Given the description of an element on the screen output the (x, y) to click on. 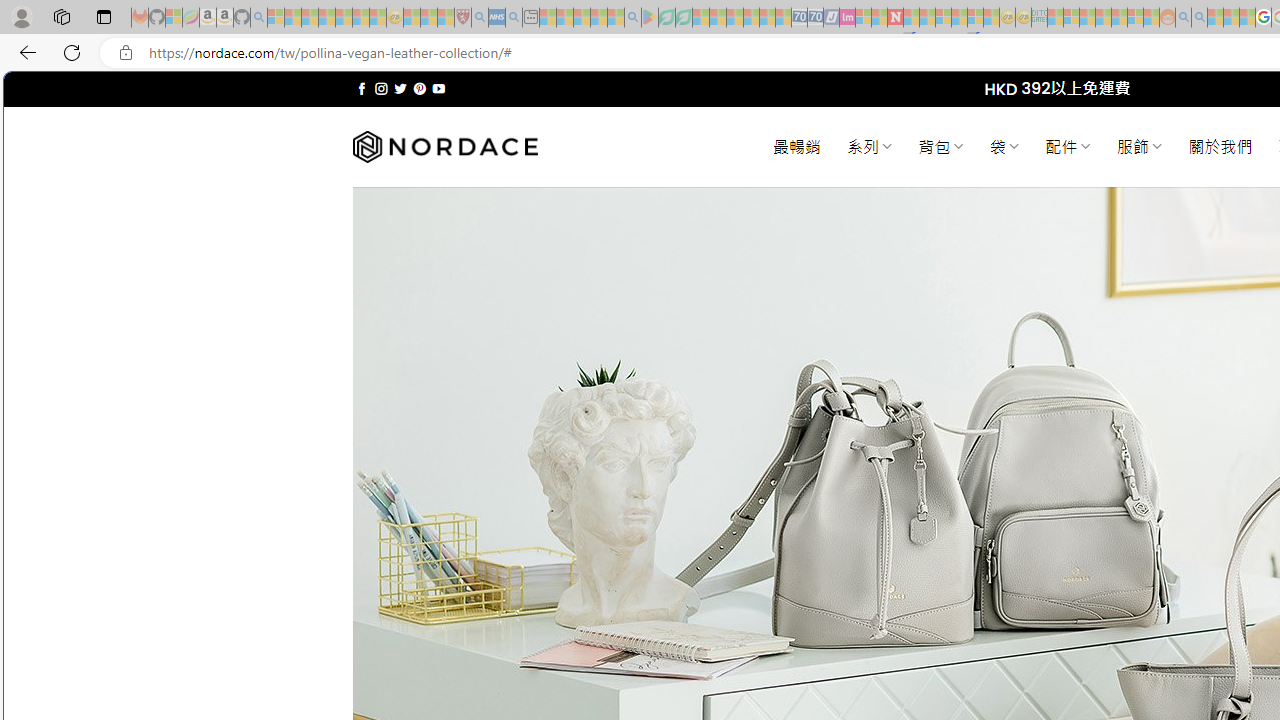
Follow on Twitter (400, 88)
google - Search - Sleeping (632, 17)
